Given the description of an element on the screen output the (x, y) to click on. 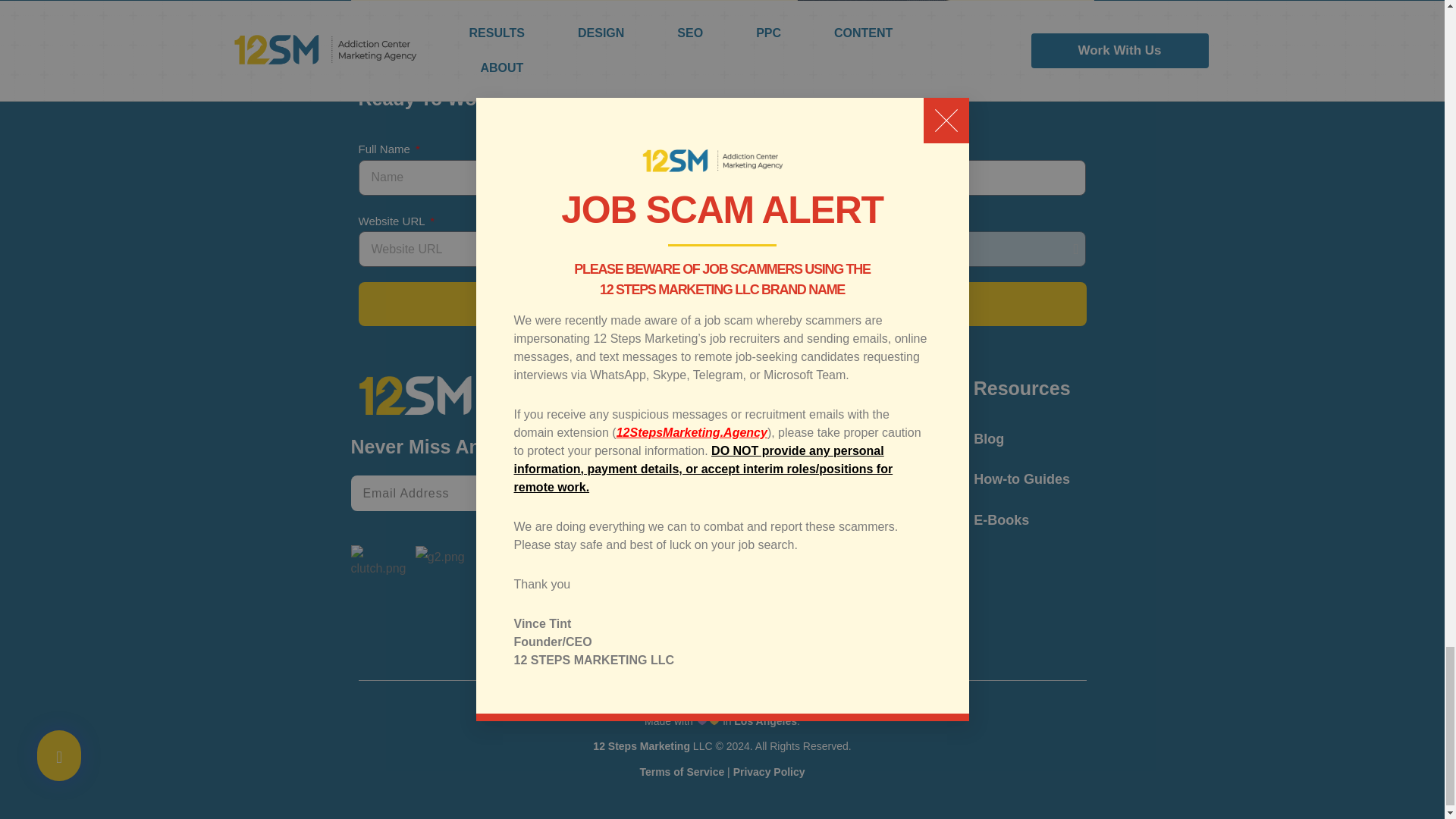
g2.png (439, 557)
upcity.png (508, 562)
About (719, 437)
clutch.png (378, 562)
LET"S GET STARTED! (722, 303)
Los Angeles Digital Marketing Agency (764, 720)
Work (719, 478)
Sign Up (538, 493)
12 steps marketing (641, 746)
tda.png (570, 557)
